Given the description of an element on the screen output the (x, y) to click on. 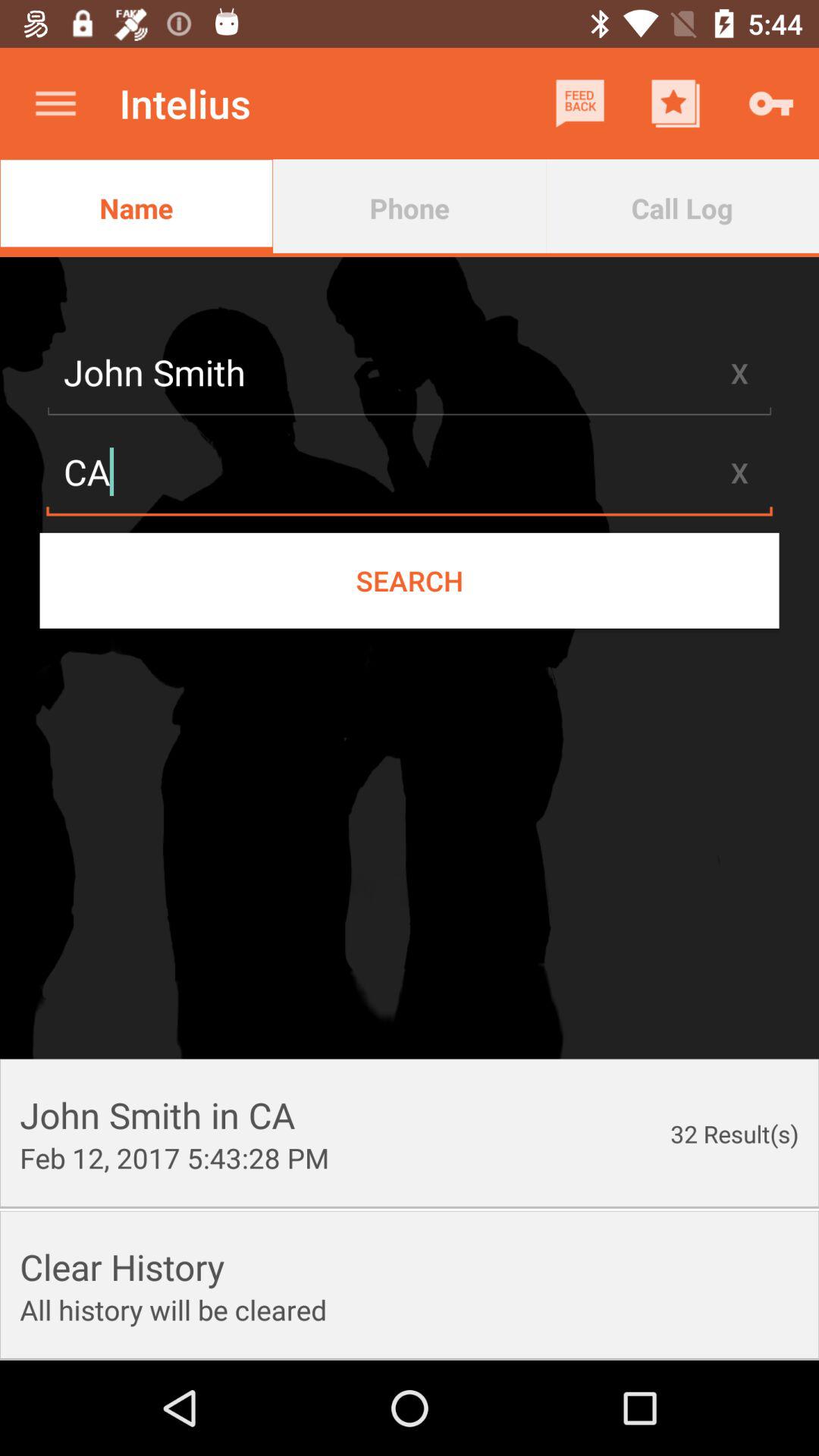
select app next to the intelius item (55, 103)
